Given the description of an element on the screen output the (x, y) to click on. 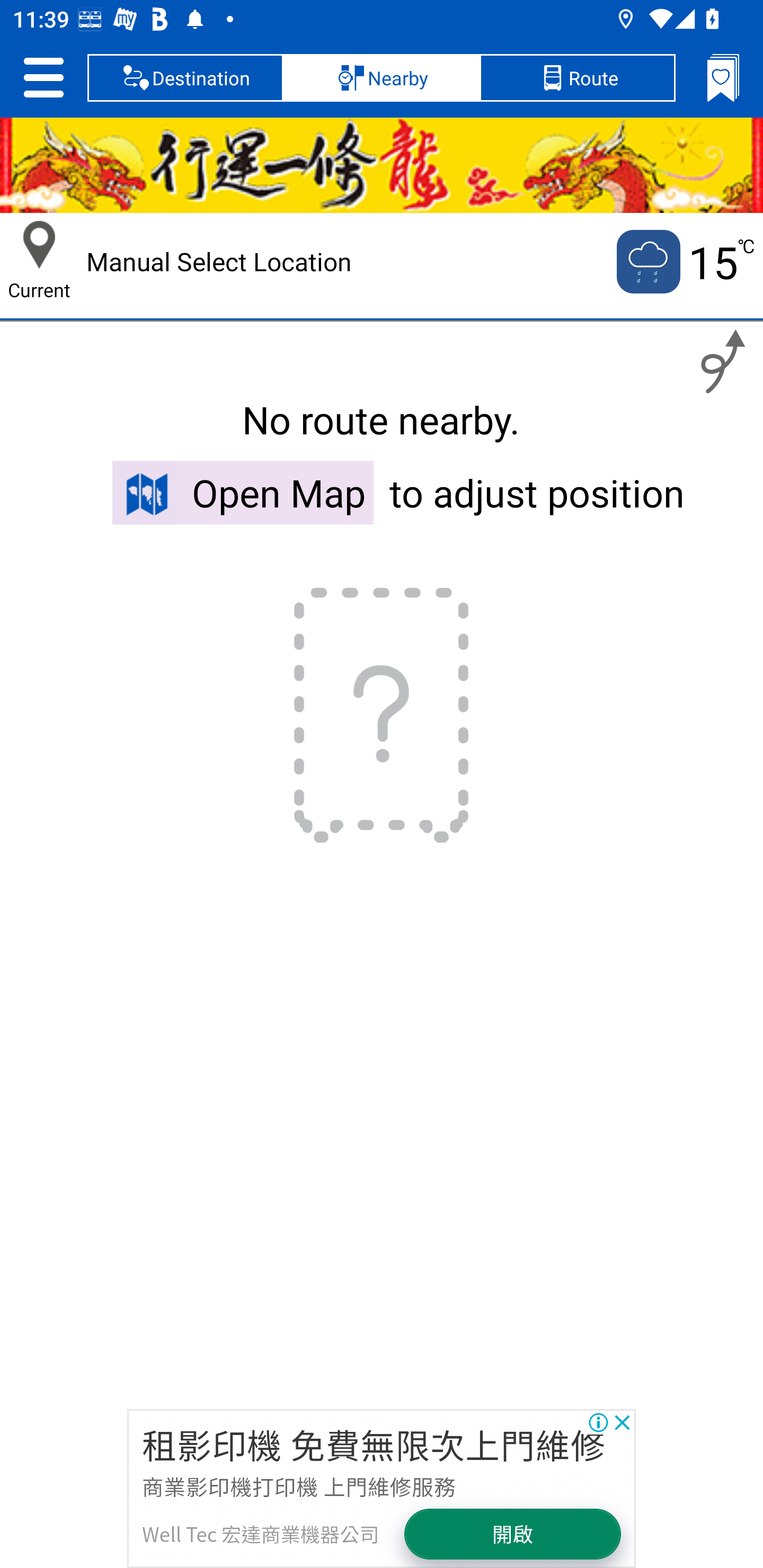
Destination (185, 77)
Nearby, selected (381, 77)
Route (577, 77)
Bookmarks (723, 77)
Setting (43, 77)
Lunar New Year 2024 (381, 165)
Current Location (38, 244)
Current temputure is  15  no 15 ℃ (684, 261)
Open Map (242, 491)
租影印機 免費無限次上門維修 (373, 1444)
商業影印機打印機 上門維修服務 (298, 1485)
開啟 (512, 1533)
Well Tec 宏達商業機器公司 (260, 1534)
